Given the description of an element on the screen output the (x, y) to click on. 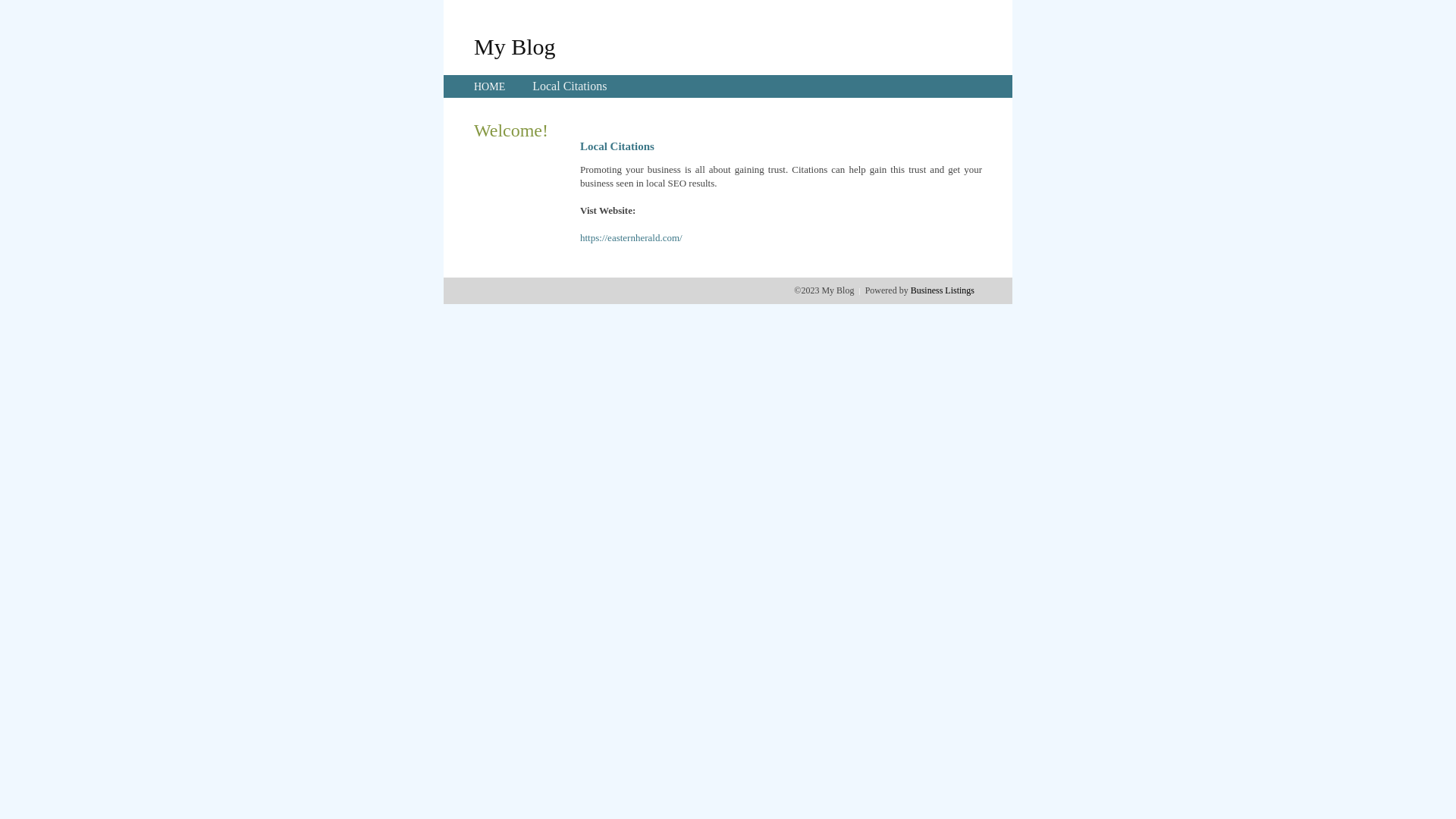
HOME Element type: text (489, 86)
My Blog Element type: text (514, 46)
Local Citations Element type: text (569, 85)
Business Listings Element type: text (942, 290)
https://easternherald.com/ Element type: text (631, 237)
